Given the description of an element on the screen output the (x, y) to click on. 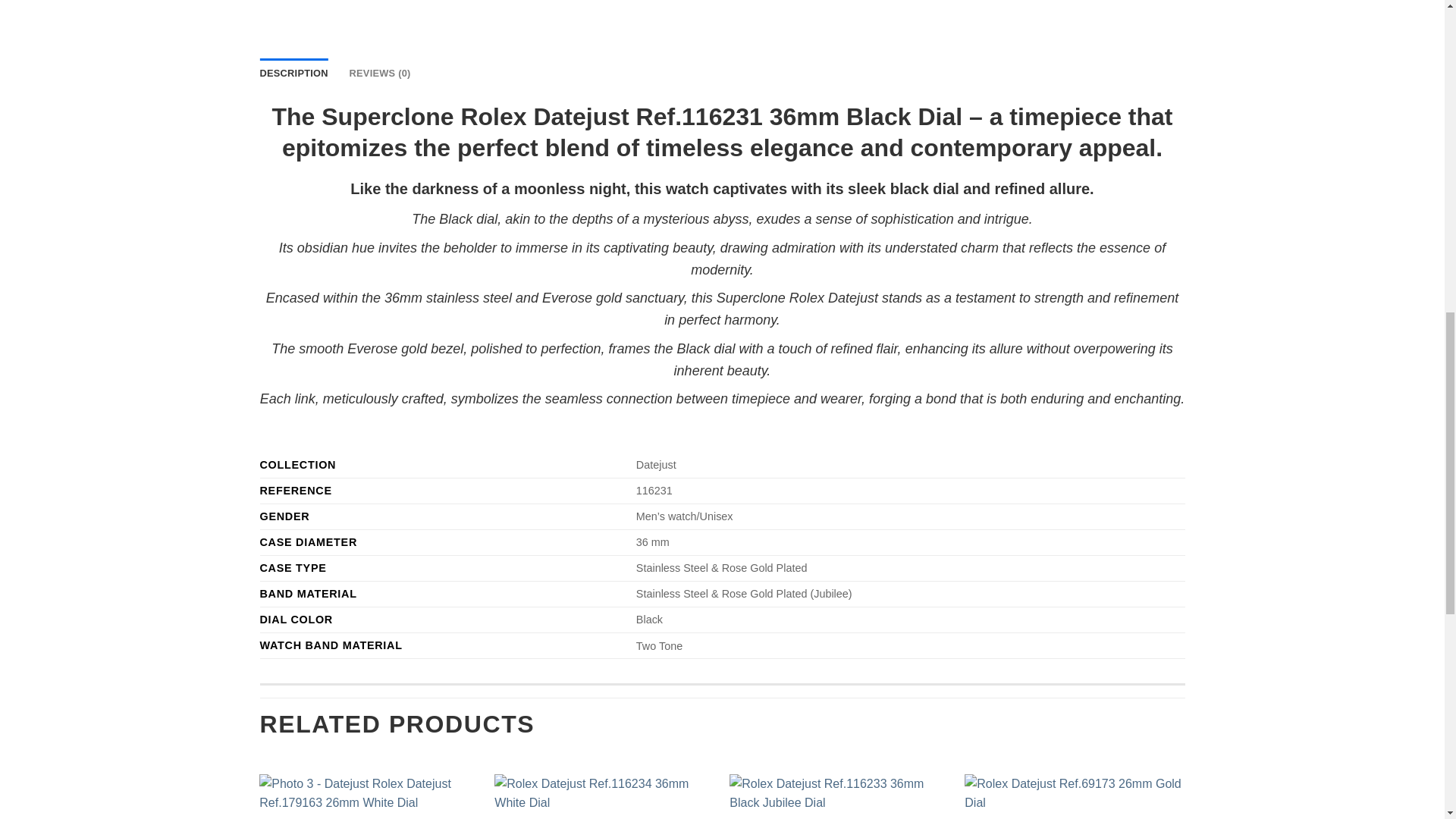
DESCRIPTION (293, 73)
